Given the description of an element on the screen output the (x, y) to click on. 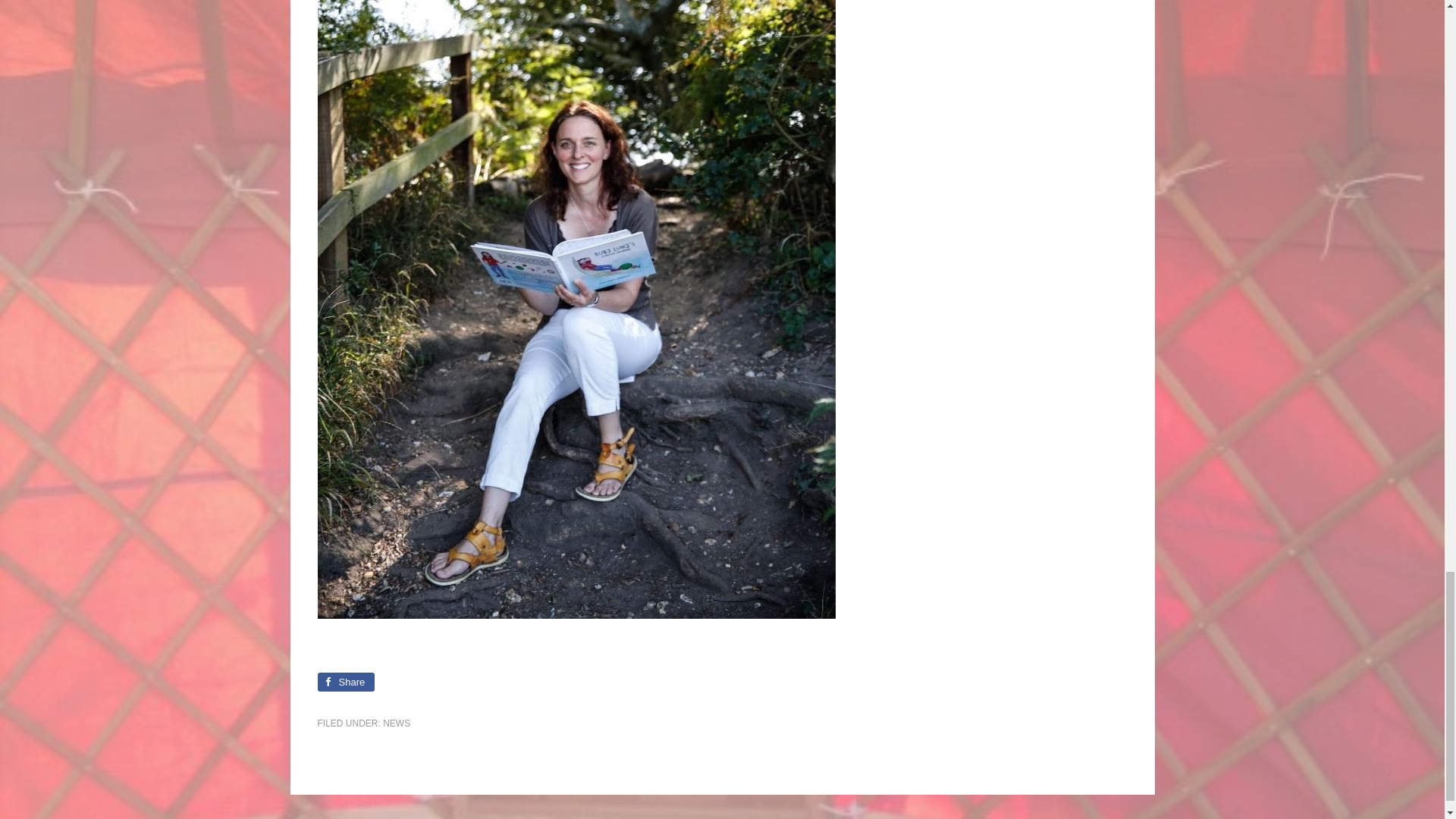
NEWS (396, 723)
Share (345, 681)
